Given the description of an element on the screen output the (x, y) to click on. 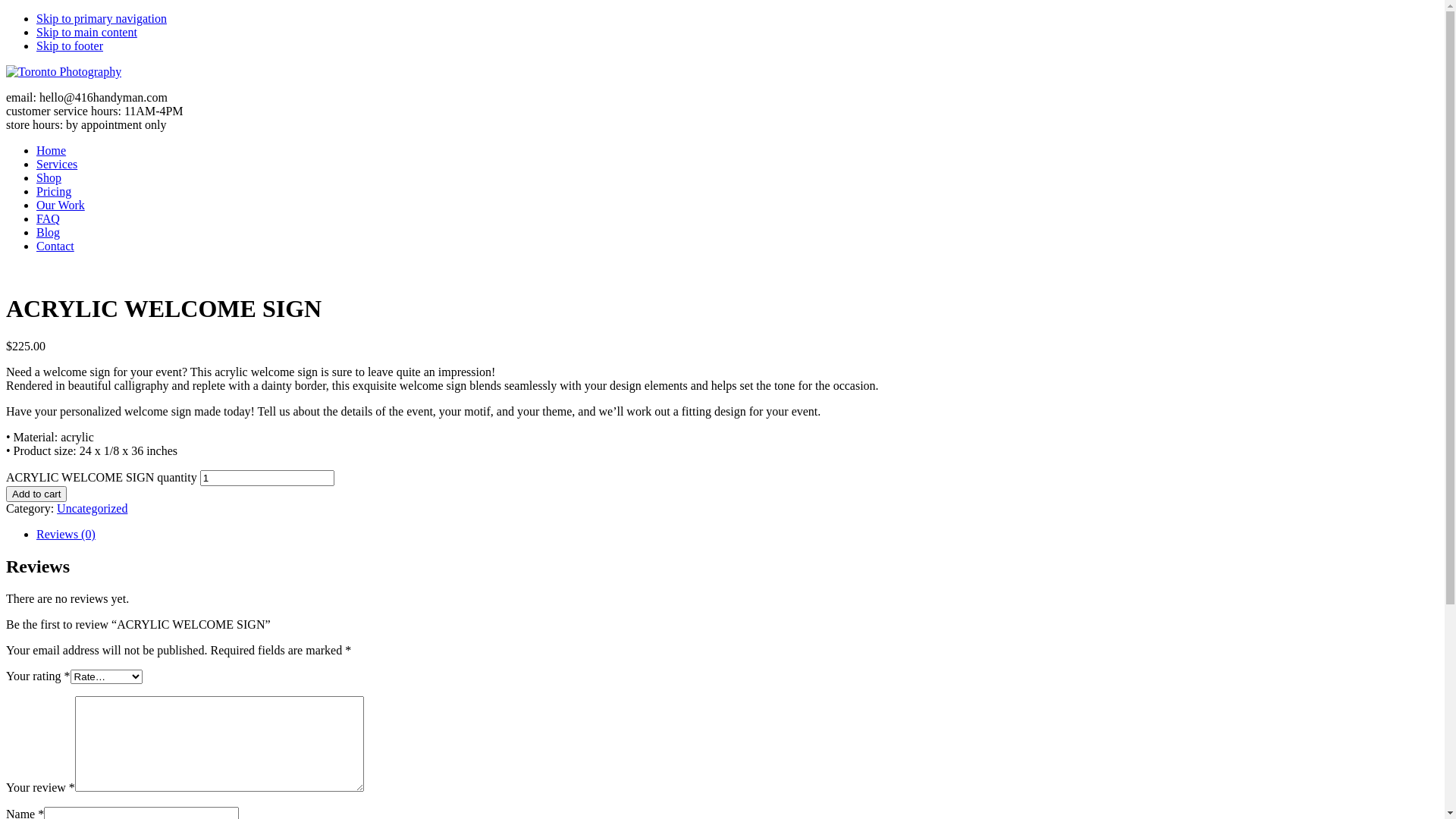
Services Element type: text (56, 163)
Home Element type: text (50, 150)
Shop Element type: text (48, 177)
Add to cart Element type: text (36, 494)
416Handyman Element type: hover (63, 71)
FAQ Element type: text (47, 218)
Blog Element type: text (47, 231)
Reviews (0) Element type: text (65, 533)
Our Work Element type: text (60, 204)
Skip to footer Element type: text (69, 45)
Skip to primary navigation Element type: text (101, 18)
Uncategorized Element type: text (91, 508)
Pricing Element type: text (53, 191)
Skip to main content Element type: text (86, 31)
Contact Element type: text (55, 245)
